Given the description of an element on the screen output the (x, y) to click on. 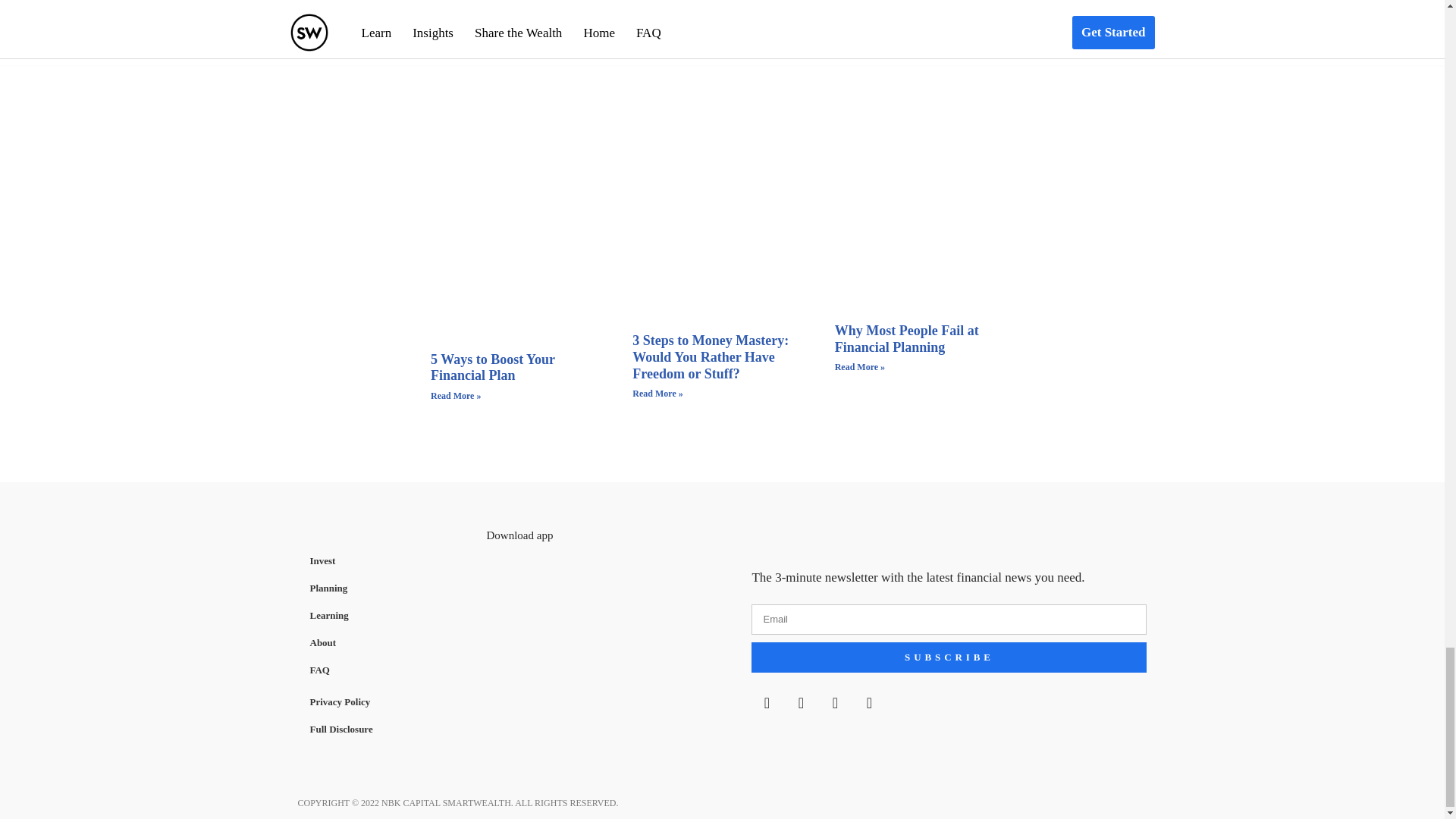
Full Disclosure (383, 729)
About (383, 642)
Invest (383, 560)
Privacy Policy (383, 701)
Get Started (722, 37)
Planning (383, 588)
5 Ways to Boost Your Financial Plan (492, 368)
SUBSCRIBE (949, 657)
FAQ (383, 669)
Why Most People Fail at Financial Planning (906, 338)
